Given the description of an element on the screen output the (x, y) to click on. 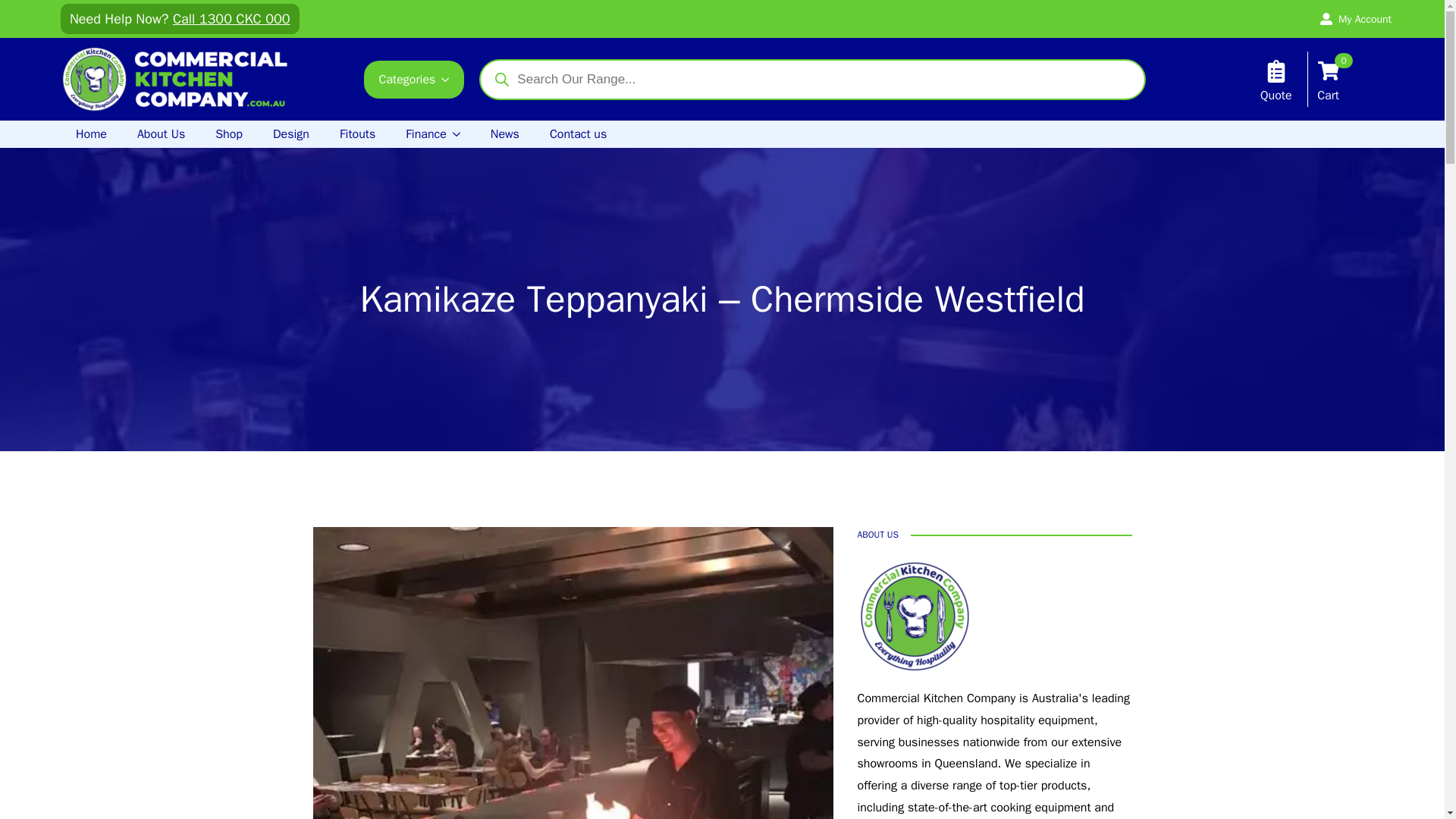
0 (1328, 71)
My Account (180, 19)
Categories (1356, 18)
